Given the description of an element on the screen output the (x, y) to click on. 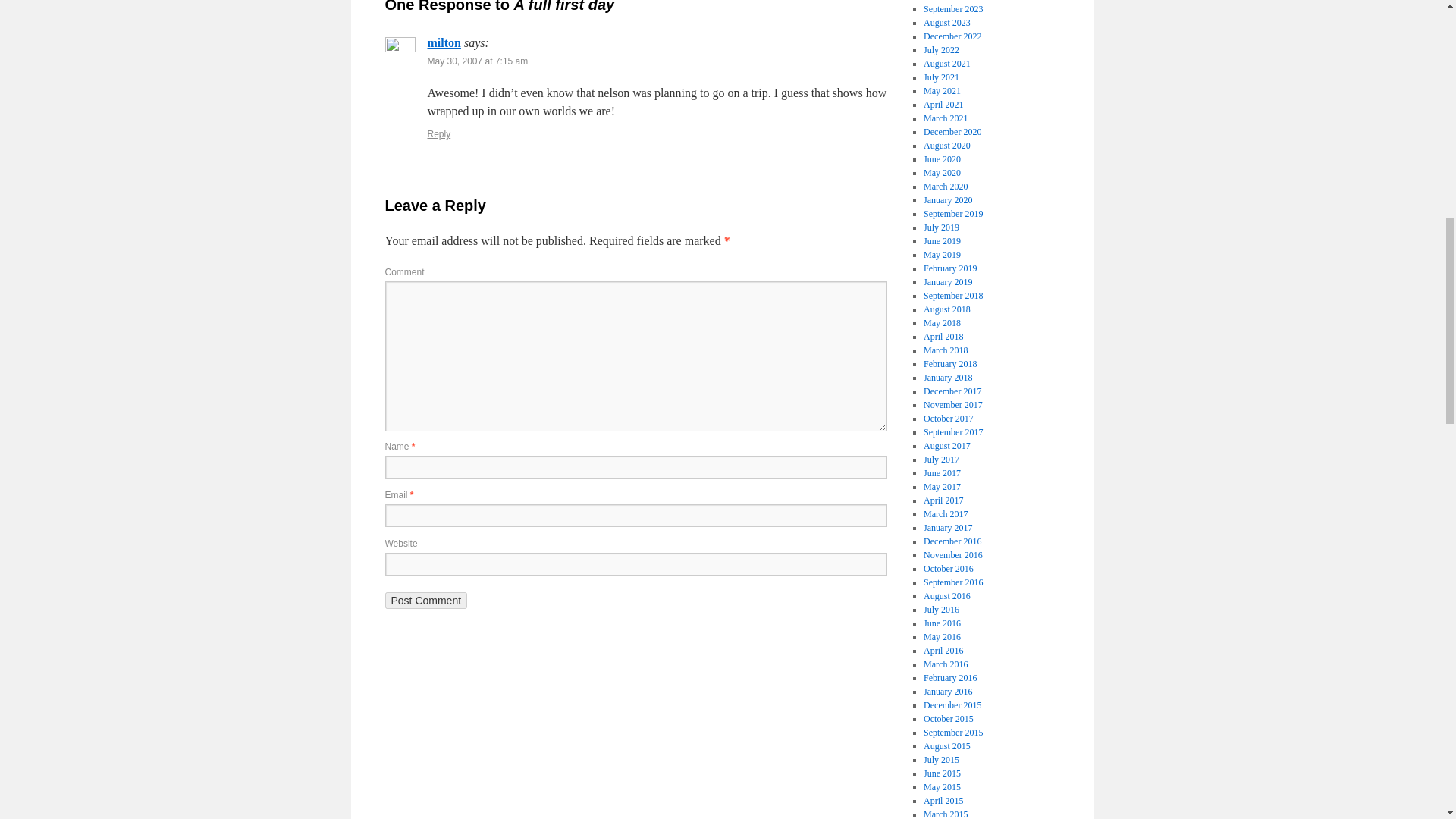
August 2023 (947, 22)
September 2023 (952, 9)
May 30, 2007 at 7:15 am (478, 61)
July 2021 (941, 77)
December 2020 (952, 131)
May 2021 (941, 90)
December 2022 (952, 36)
April 2021 (942, 104)
milton (444, 42)
Post Comment (426, 600)
